Given the description of an element on the screen output the (x, y) to click on. 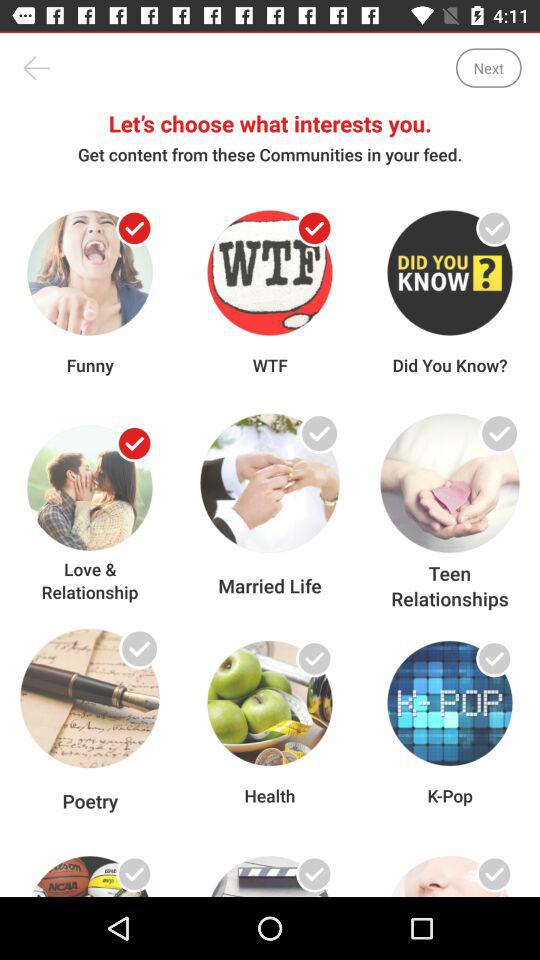
add to favorites (494, 443)
